Given the description of an element on the screen output the (x, y) to click on. 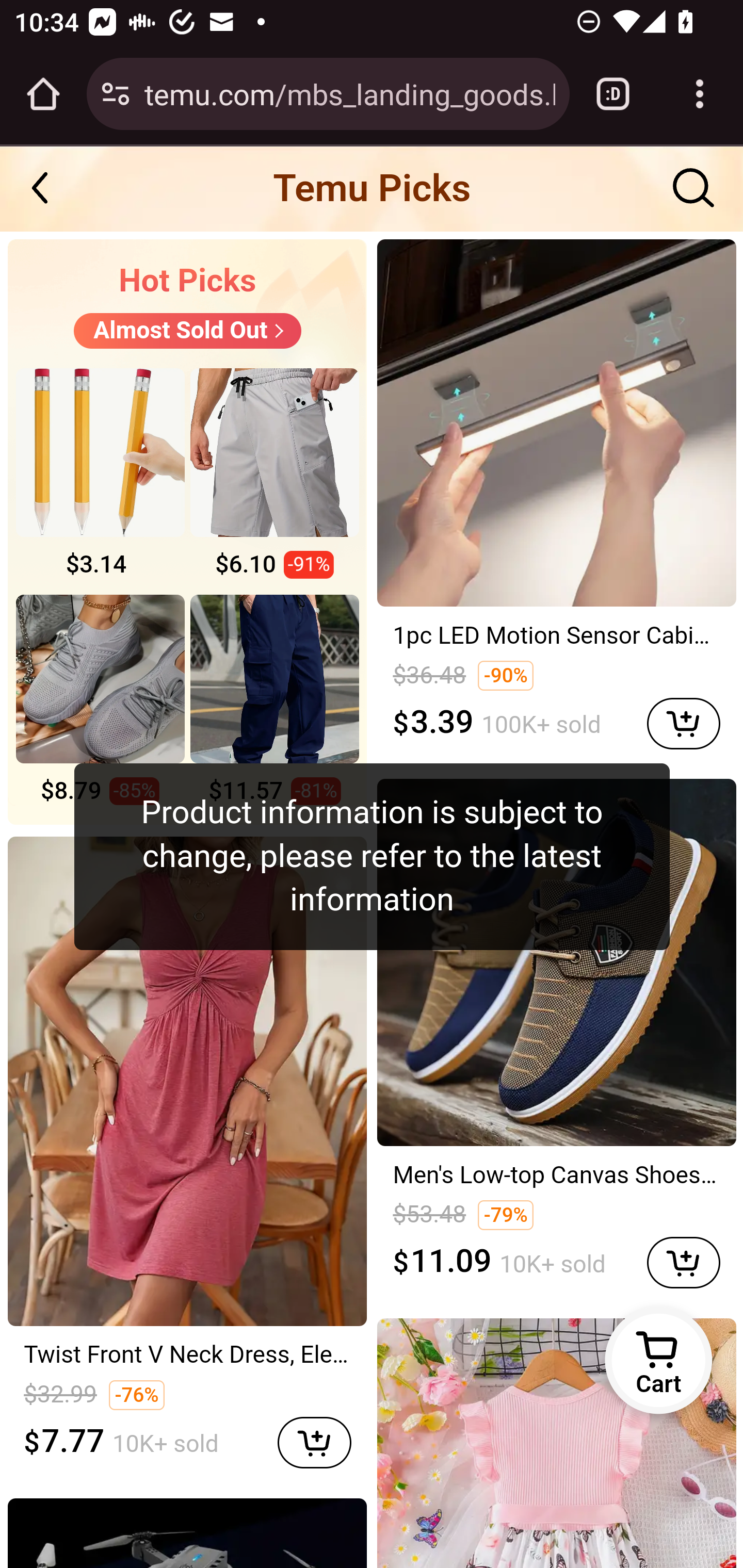
Open the home page (43, 93)
Connection is secure (115, 93)
Switch or close tabs (612, 93)
Customize and control Google Chrome (699, 93)
Back (50, 188)
Cart (658, 1359)
